Given the description of an element on the screen output the (x, y) to click on. 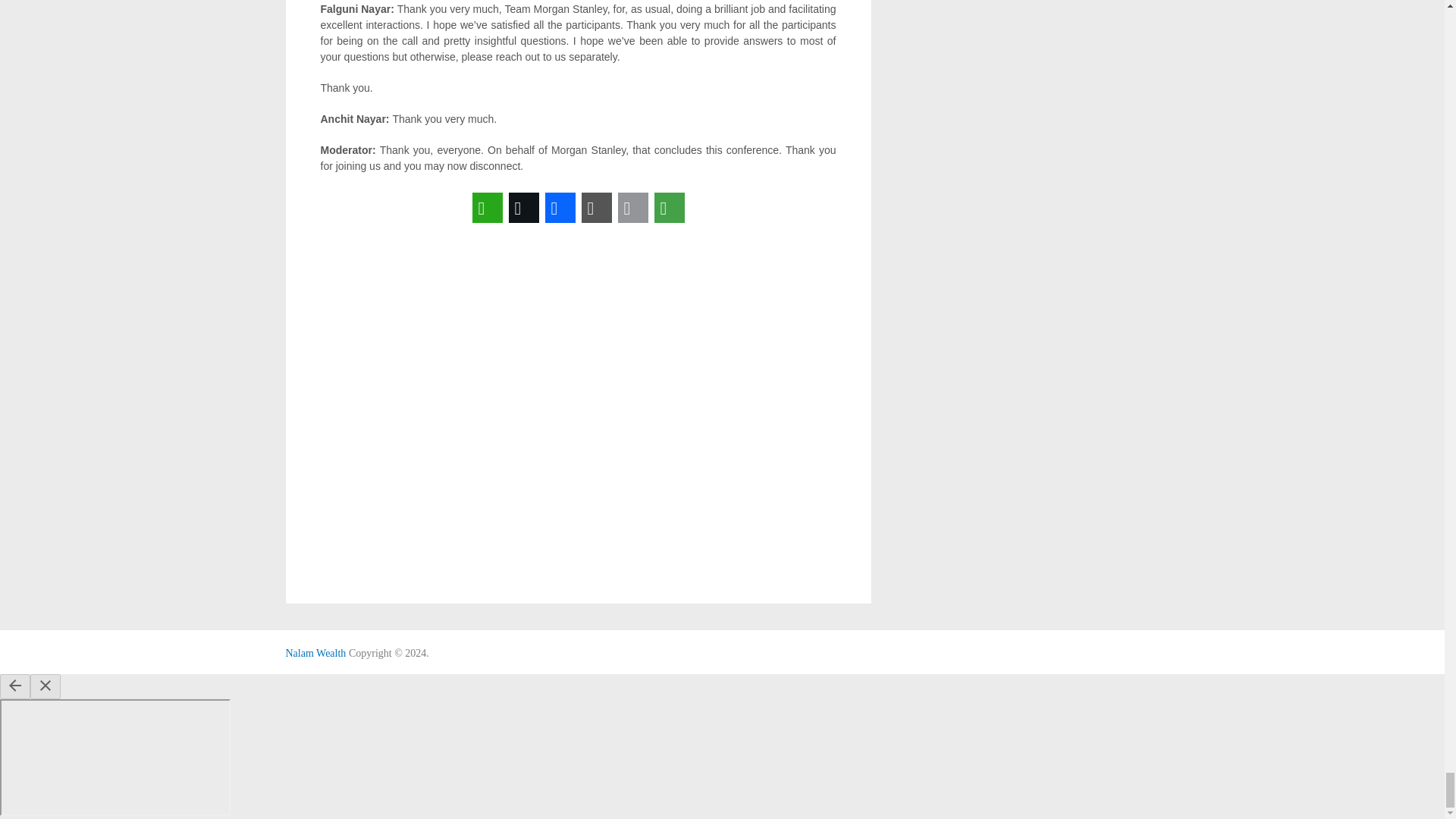
Nalam Wealth (315, 653)
WhatsApp (486, 207)
